Given the description of an element on the screen output the (x, y) to click on. 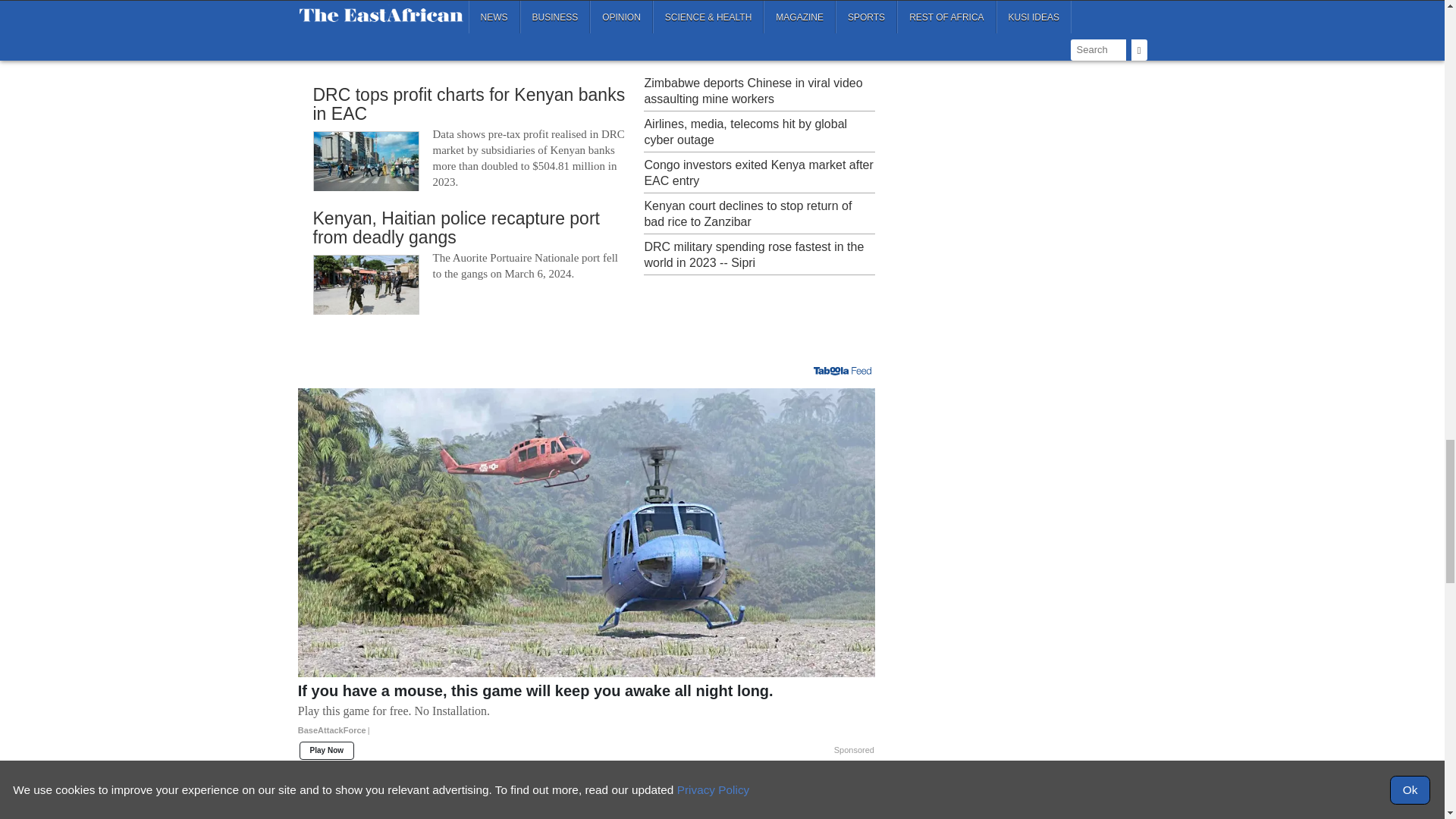
"Description: Play this game for free. No Installation." (586, 710)
Chrissy Metz Is So Skinny Now And She Looks Like A Model (439, 805)
